Given the description of an element on the screen output the (x, y) to click on. 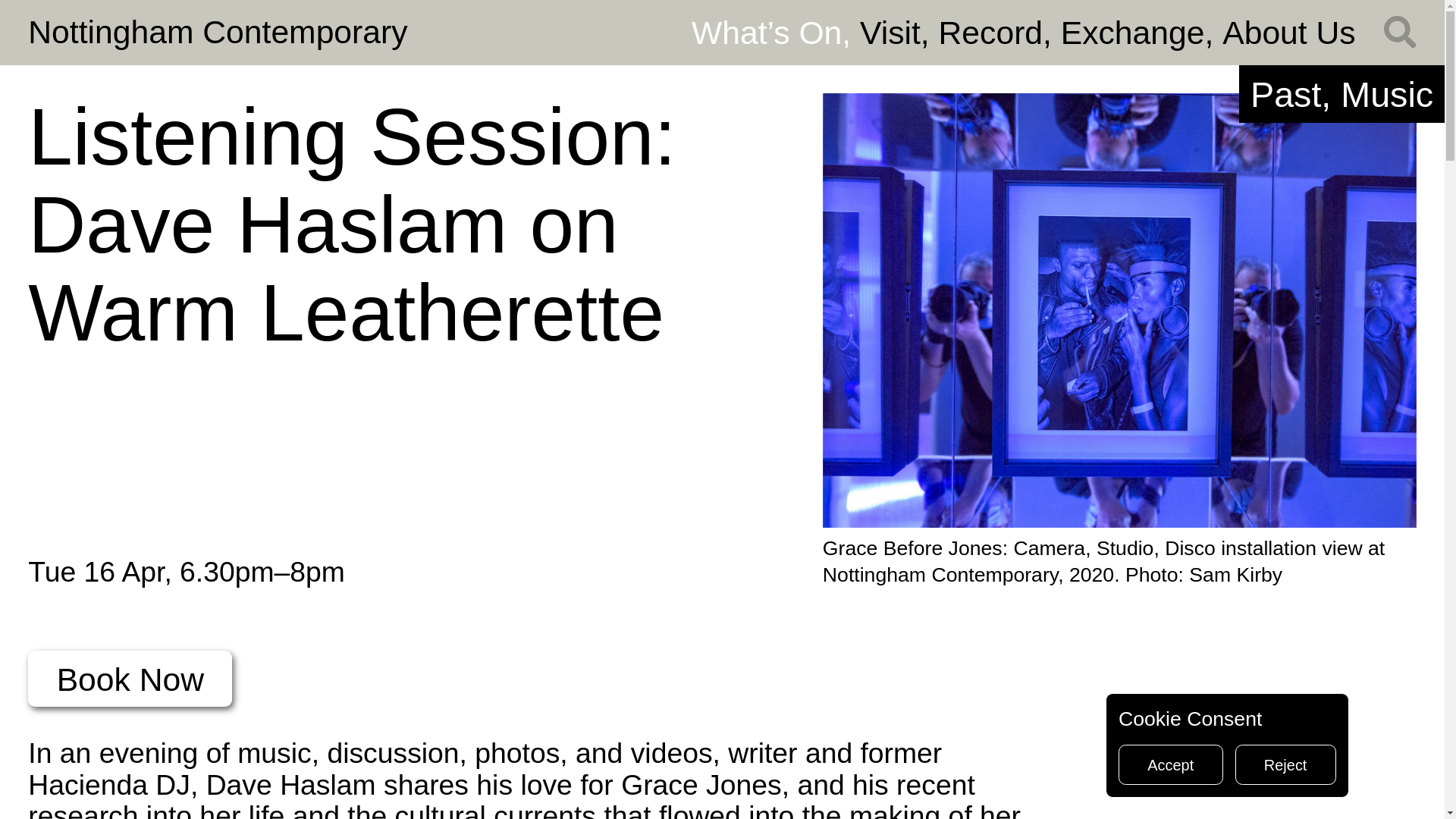
Reject (1285, 764)
Record,  (1000, 32)
About Us (1289, 32)
Book Now (129, 678)
Exchange,  (1142, 32)
Accept (1170, 764)
Visit,  (899, 32)
Nottingham Contemporary (217, 31)
